Given the description of an element on the screen output the (x, y) to click on. 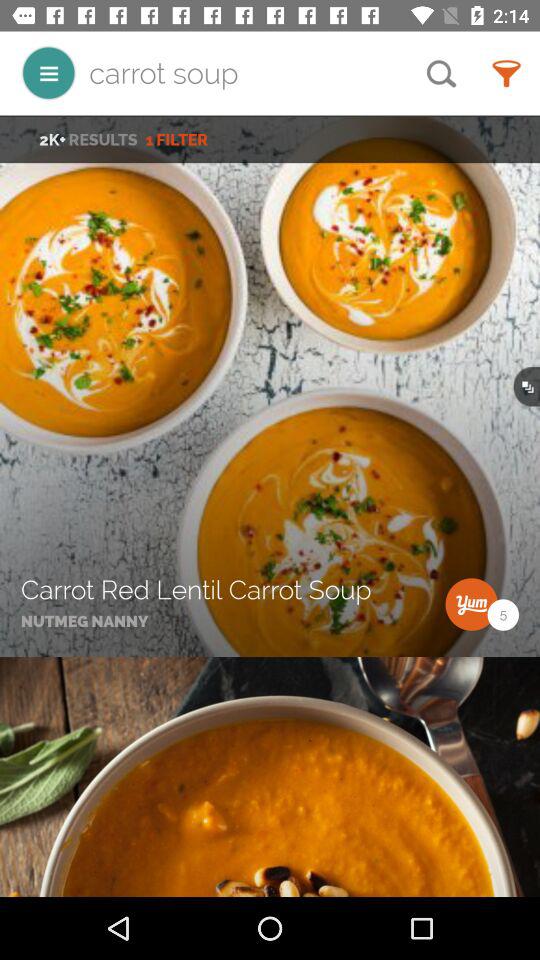
this will open the options menu (48, 72)
